Given the description of an element on the screen output the (x, y) to click on. 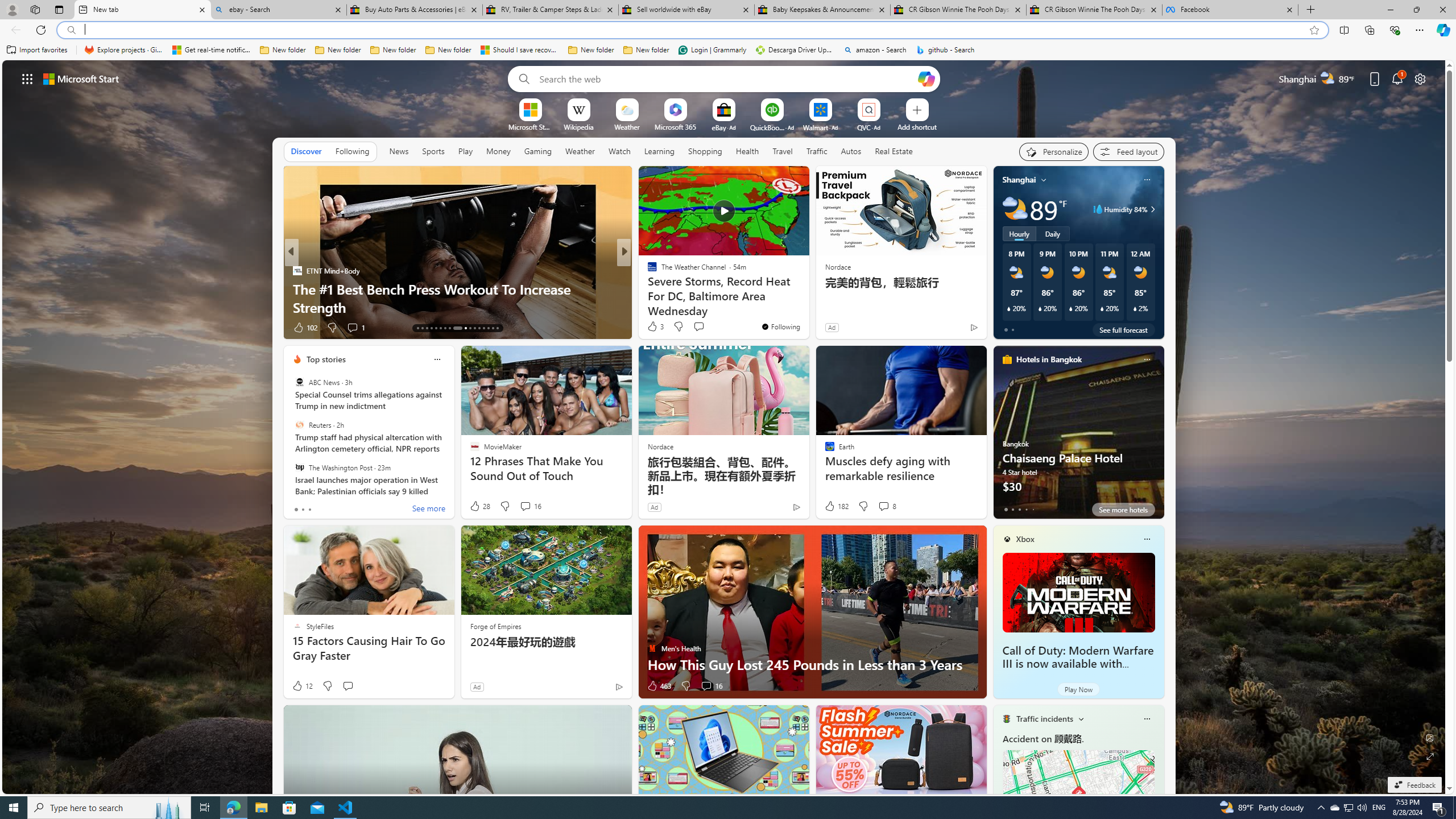
Microsoft start (81, 78)
AutomationID: tab-18 (440, 328)
AutomationID: tab-29 (497, 328)
AutomationID: tab-28 (492, 328)
View comments 16 Comment (710, 685)
